Given the description of an element on the screen output the (x, y) to click on. 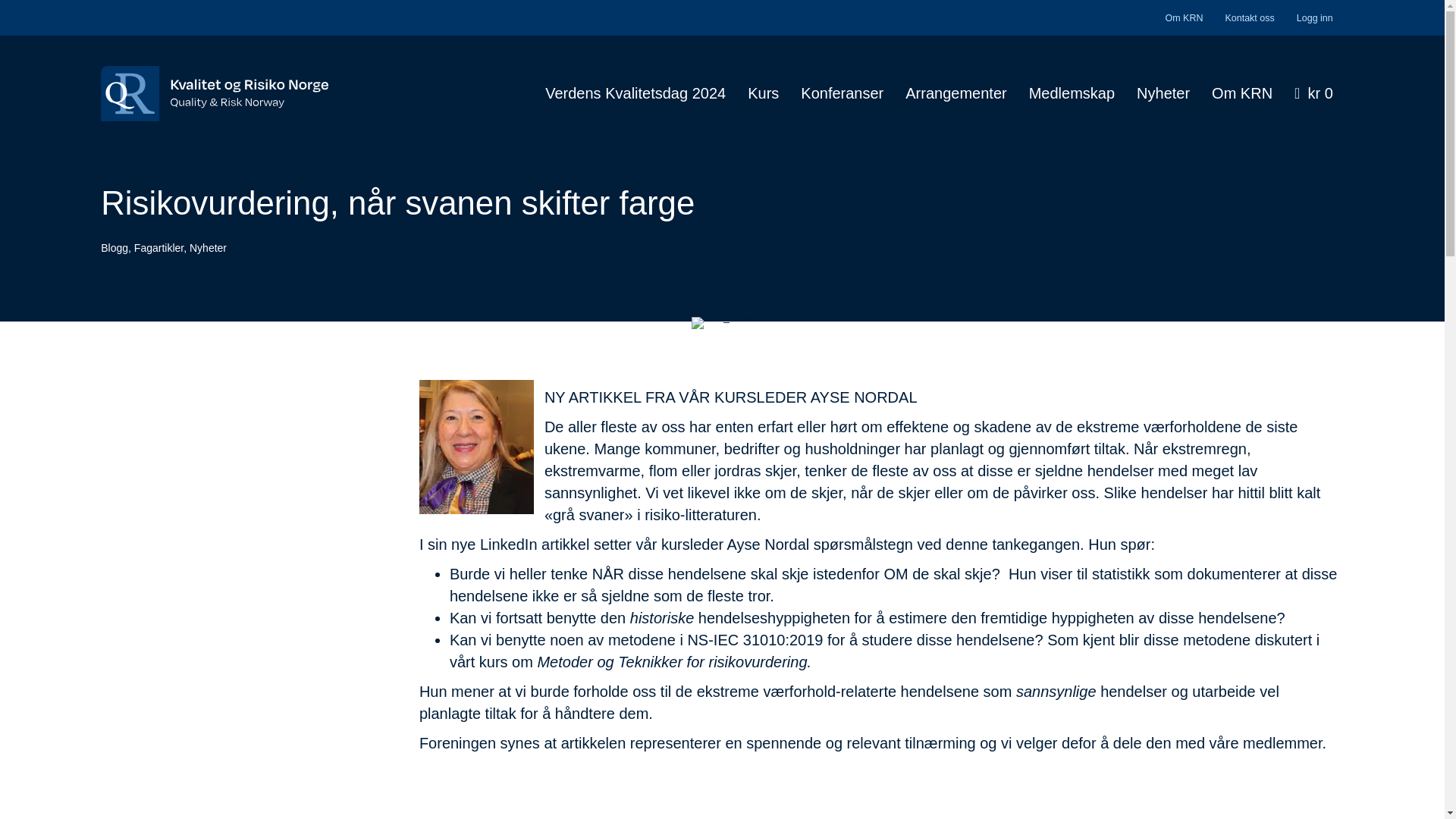
Medlemskap (1071, 93)
kr 0 (1313, 93)
Logg inn (1314, 18)
Blogg (114, 247)
Fagartikler (158, 247)
Om KRN (1183, 18)
Konferanser (841, 93)
Arrangementer (955, 93)
Kurs (762, 93)
qrn-logo-hvit-rgb (214, 93)
